Given the description of an element on the screen output the (x, y) to click on. 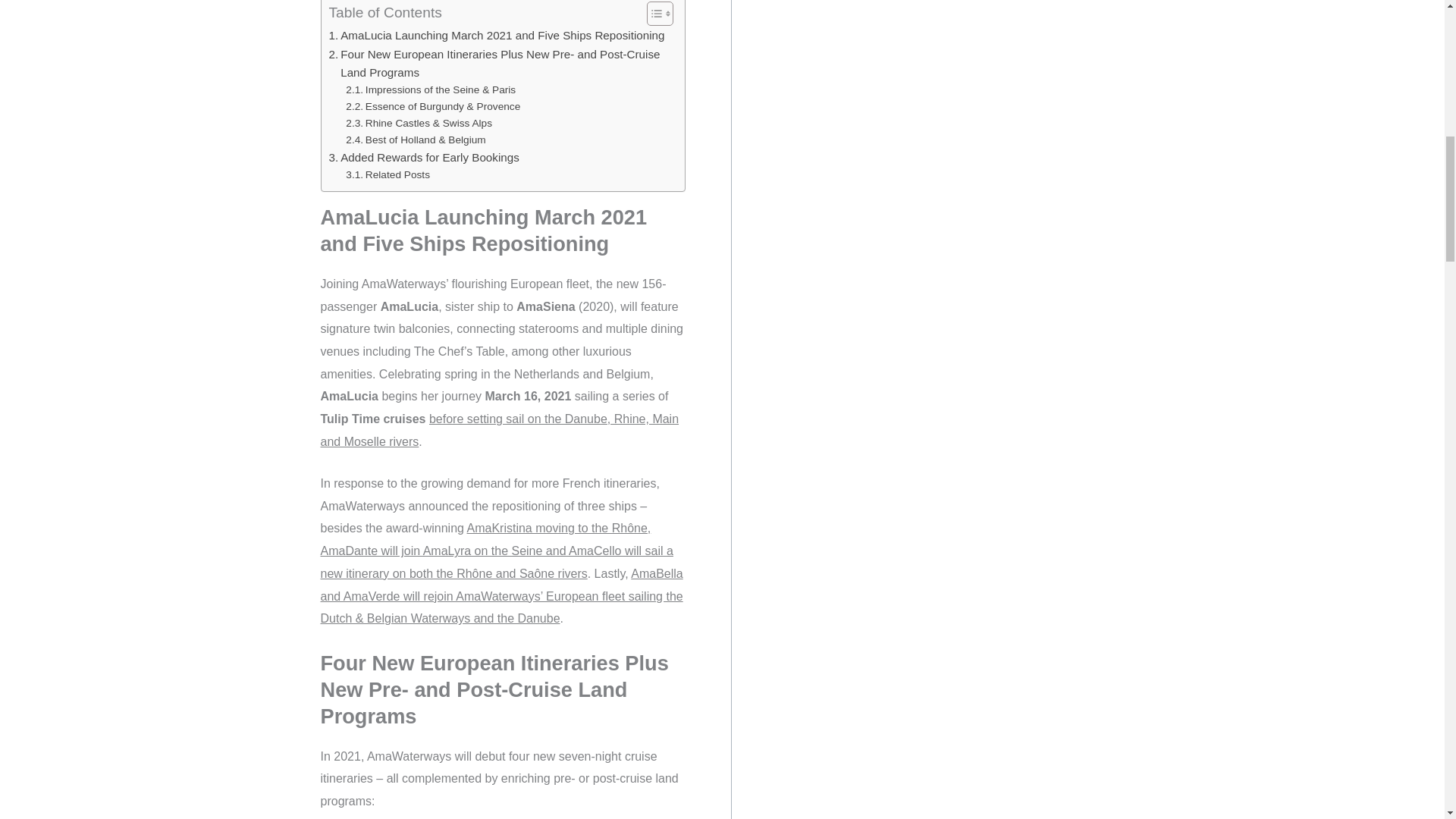
Added Rewards for Early Bookings (424, 157)
Related Posts (387, 175)
AmaLucia Launching March 2021 and Five Ships Repositioning (497, 35)
